Given the description of an element on the screen output the (x, y) to click on. 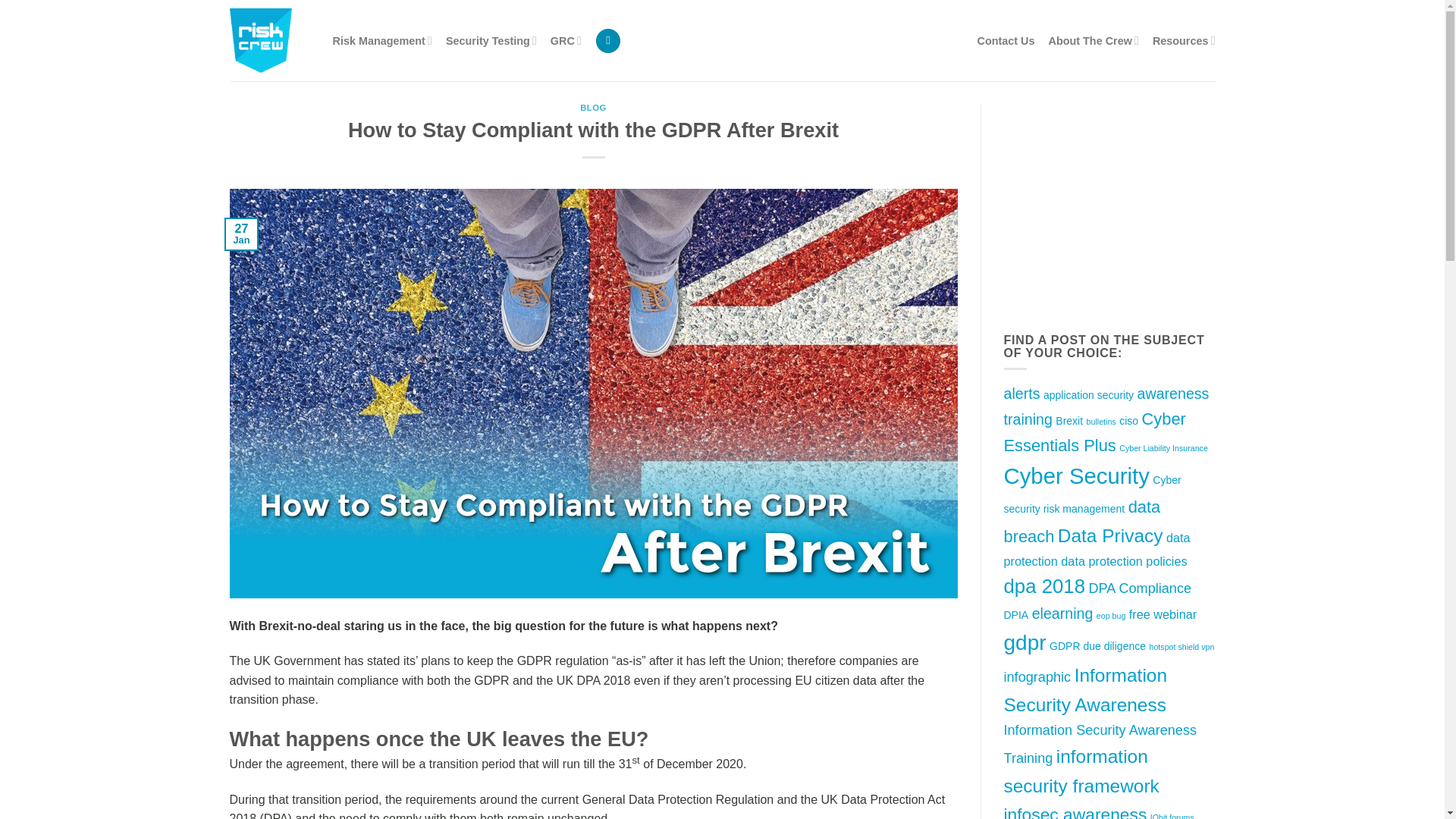
GRC (565, 40)
Risk Crew - Information Risk Management Consultants (268, 40)
About The Crew (1093, 40)
Risk Management (380, 40)
Security Testing (491, 40)
Contact Us (1005, 40)
